Given the description of an element on the screen output the (x, y) to click on. 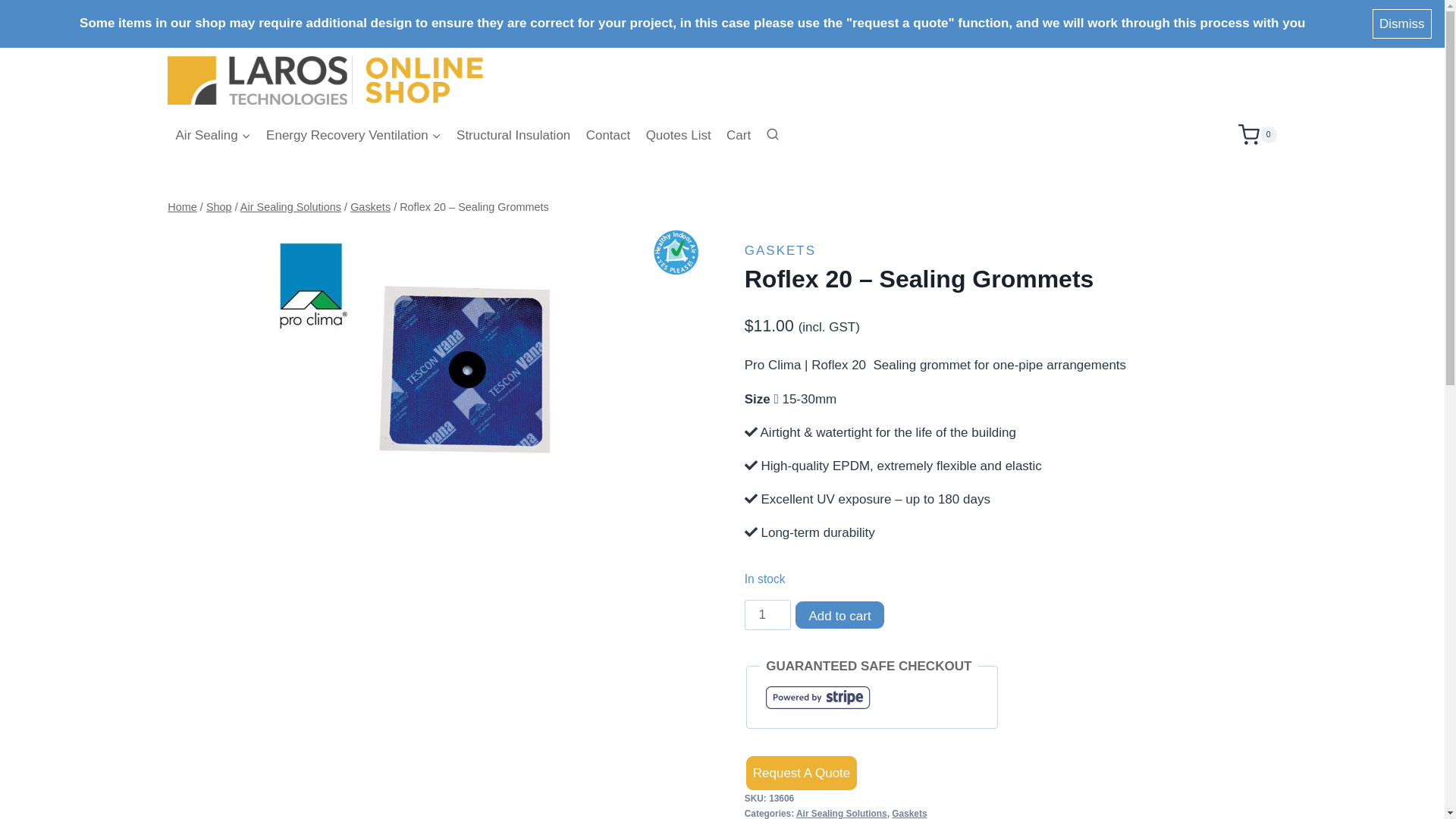
Quotes List Element type: text (677, 135)
roflex_20.jpg Element type: hover (433, 355)
Shop Element type: text (219, 206)
GASKETS Element type: text (779, 250)
Home Element type: text (182, 206)
Request A Quote Element type: text (801, 772)
Contact Element type: text (607, 135)
Air Sealing Element type: text (212, 135)
0 Element type: text (1257, 134)
Cart Element type: text (738, 135)
Energy Recovery Ventilation Element type: text (353, 135)
Dismiss Element type: text (1402, 23)
Air Sealing Solutions Element type: text (290, 206)
Gaskets Element type: text (370, 206)
Add to cart Element type: text (838, 614)
Structural Insulation Element type: text (513, 135)
